Given the description of an element on the screen output the (x, y) to click on. 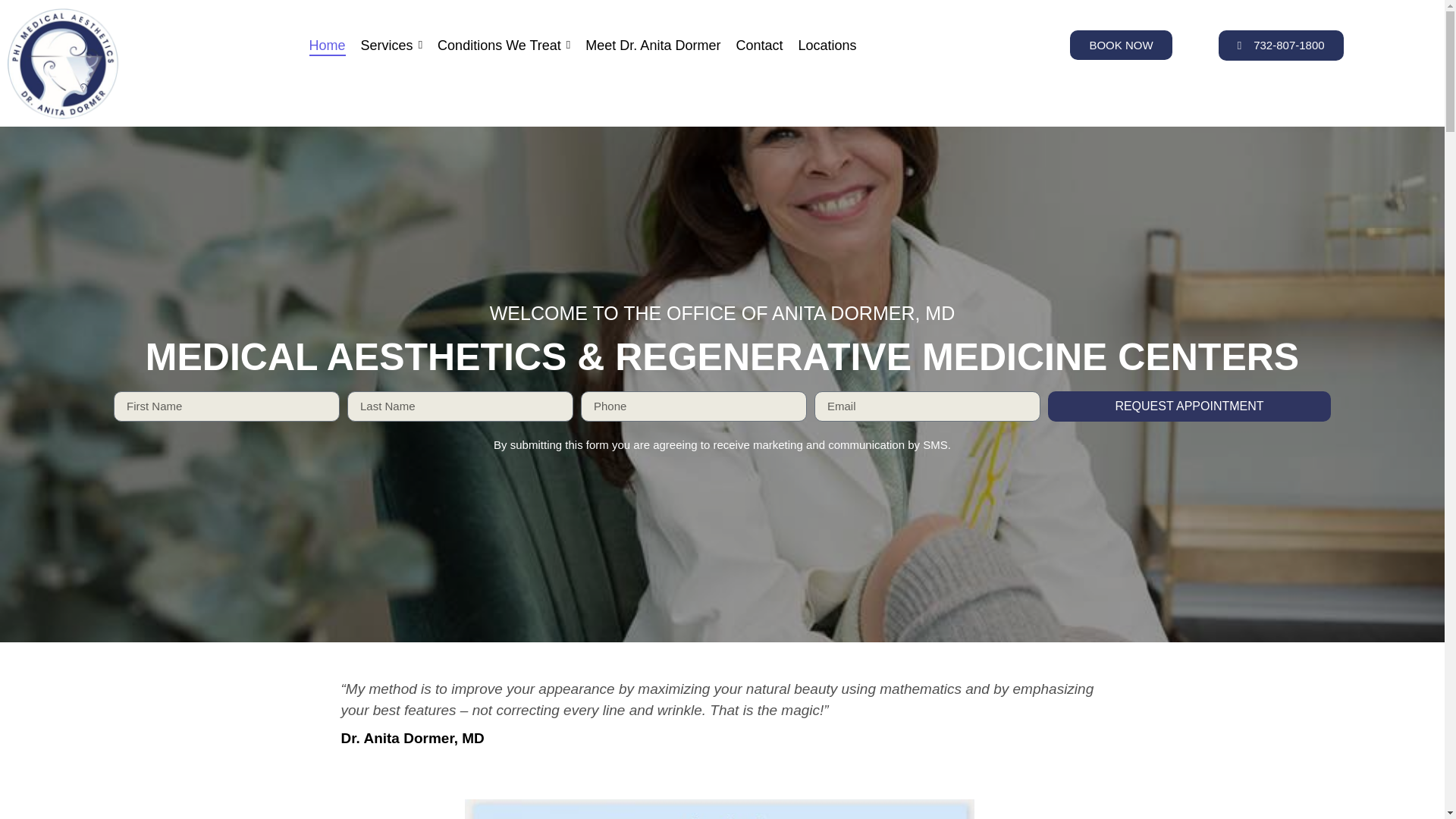
Conditions We Treat (504, 45)
Meet Dr. Anita Dormer (652, 45)
Home (327, 45)
Services (392, 45)
Contact (759, 45)
Locations (826, 45)
